Given the description of an element on the screen output the (x, y) to click on. 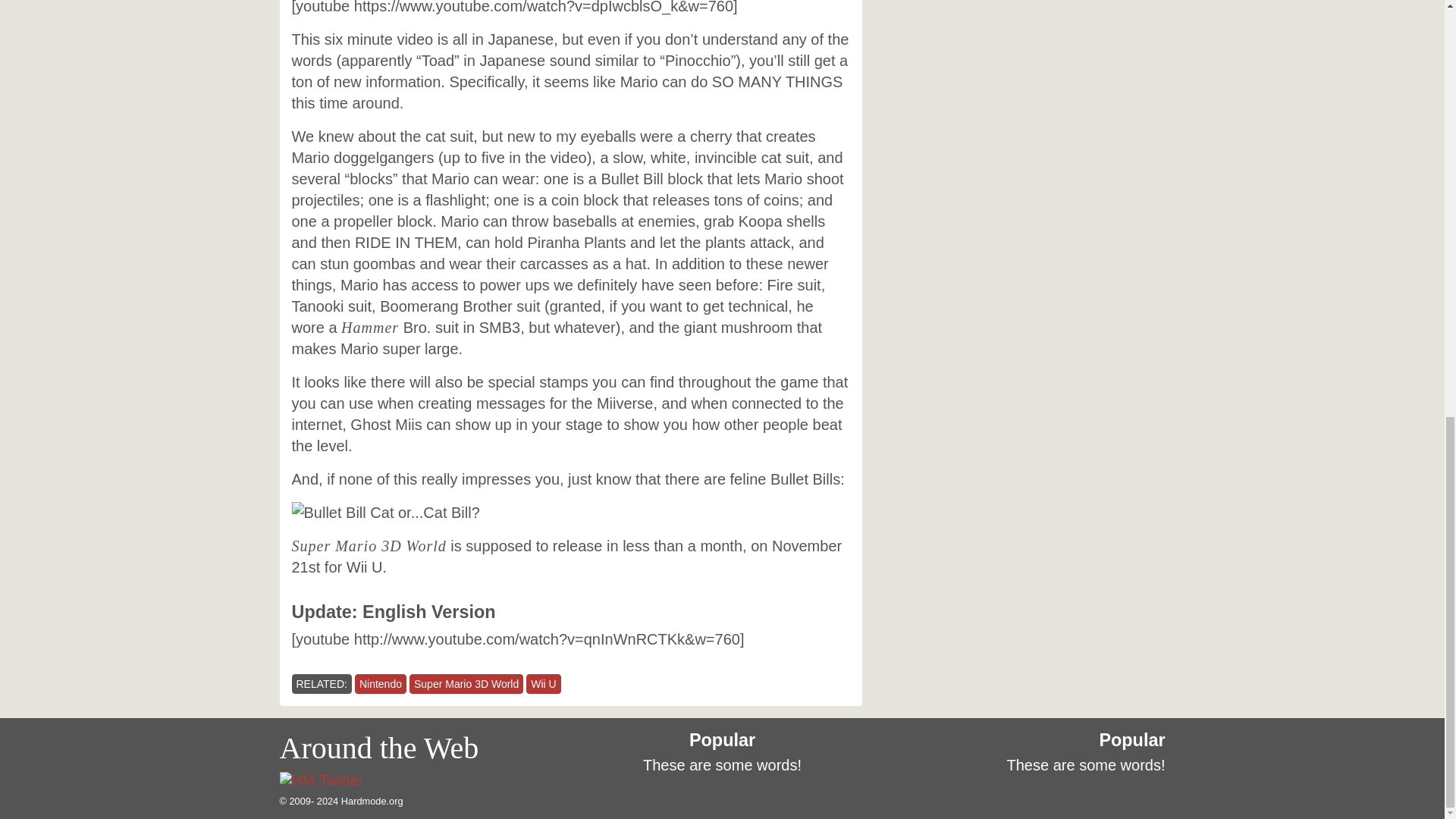
Wii U (542, 683)
HM Twitter (320, 780)
Super Mario 3D World (465, 683)
Nintendo (380, 683)
Bullet Bill Cat or...Cat Bill? (385, 512)
